Given the description of an element on the screen output the (x, y) to click on. 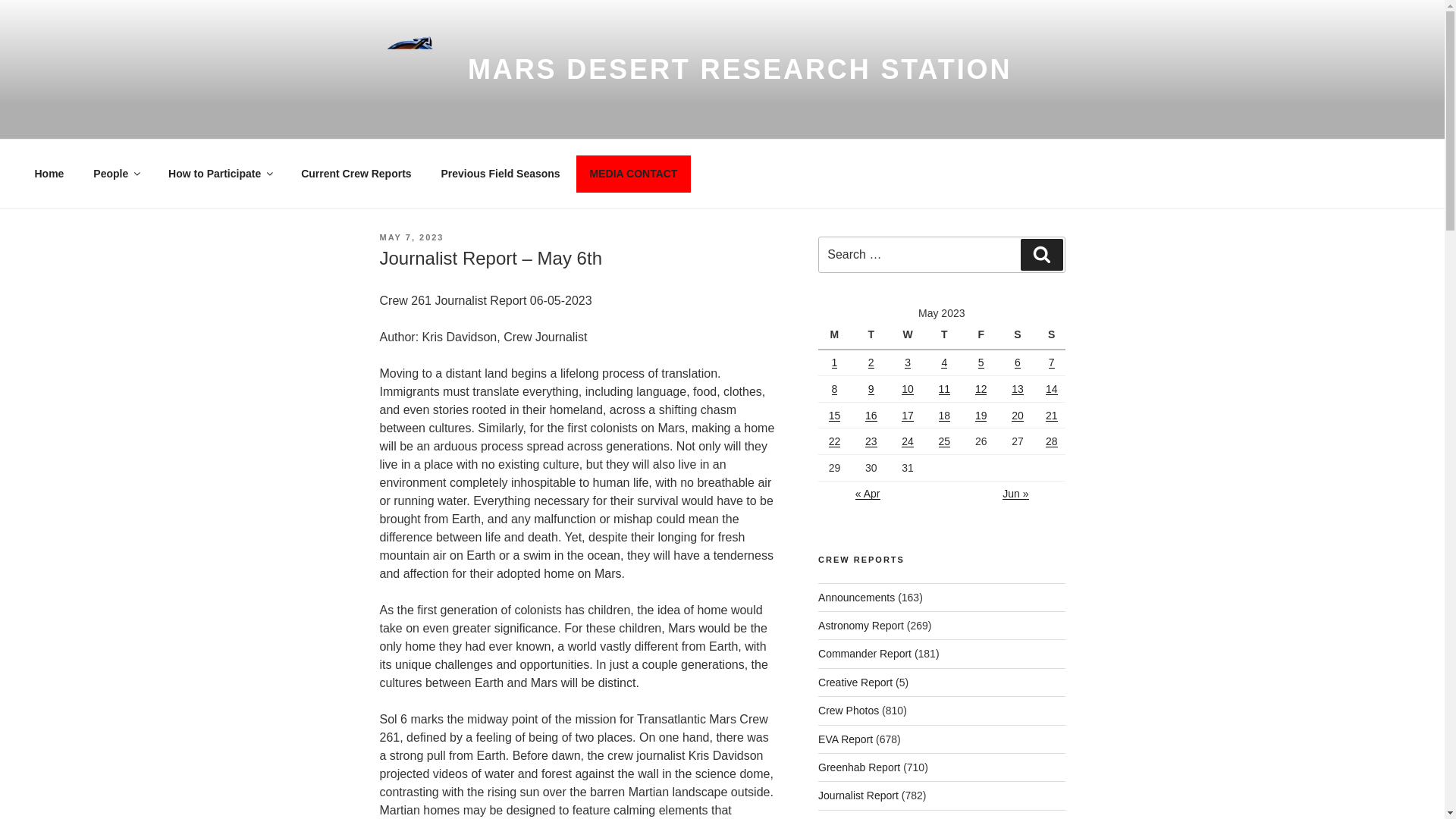
Wednesday (909, 335)
How to Participate (220, 172)
Monday (836, 335)
11 (944, 388)
Thursday (945, 335)
Saturday (1019, 335)
12 (981, 388)
Previous Field Seasons (500, 172)
10 (907, 388)
Sunday (1051, 335)
